Given the description of an element on the screen output the (x, y) to click on. 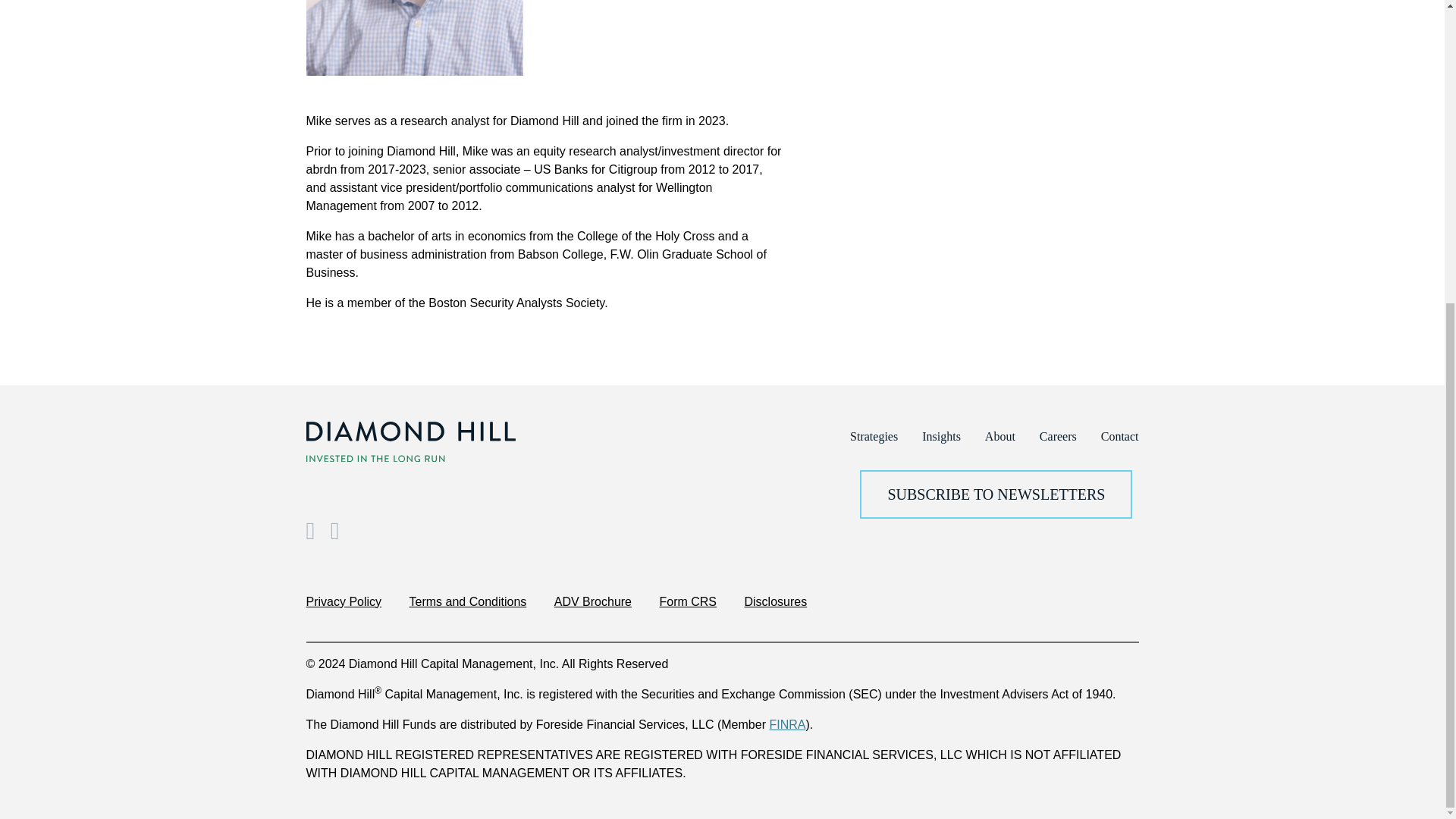
Form CRS (687, 601)
Privacy Policy (343, 601)
Disclosures (775, 601)
ADV Brochure (592, 601)
Terms and Conditions (468, 601)
